Given the description of an element on the screen output the (x, y) to click on. 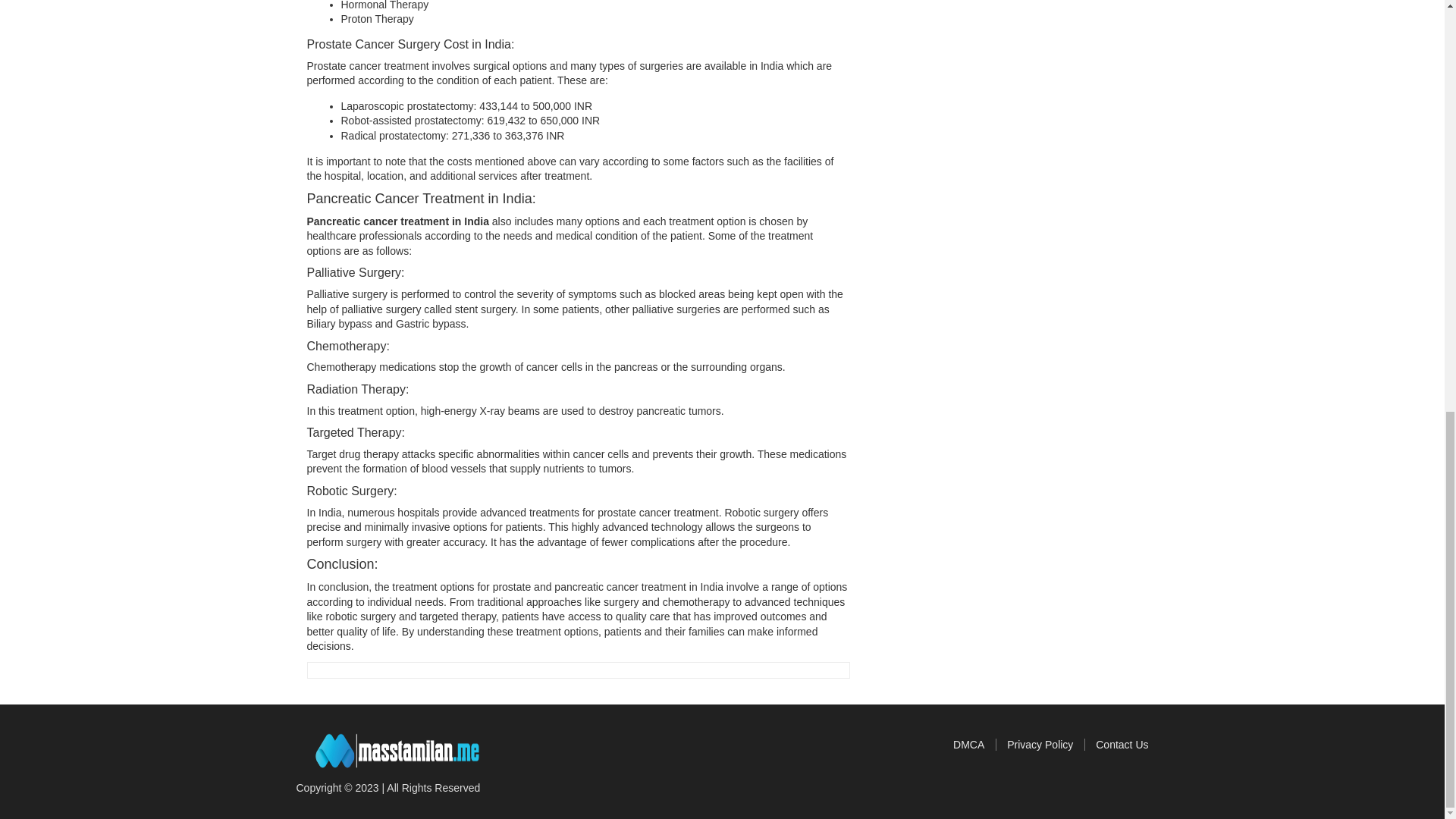
DMCA (974, 744)
Privacy Policy (1045, 744)
Pancreatic cancer treatment in India (396, 221)
Contact Us (1122, 744)
